Given the description of an element on the screen output the (x, y) to click on. 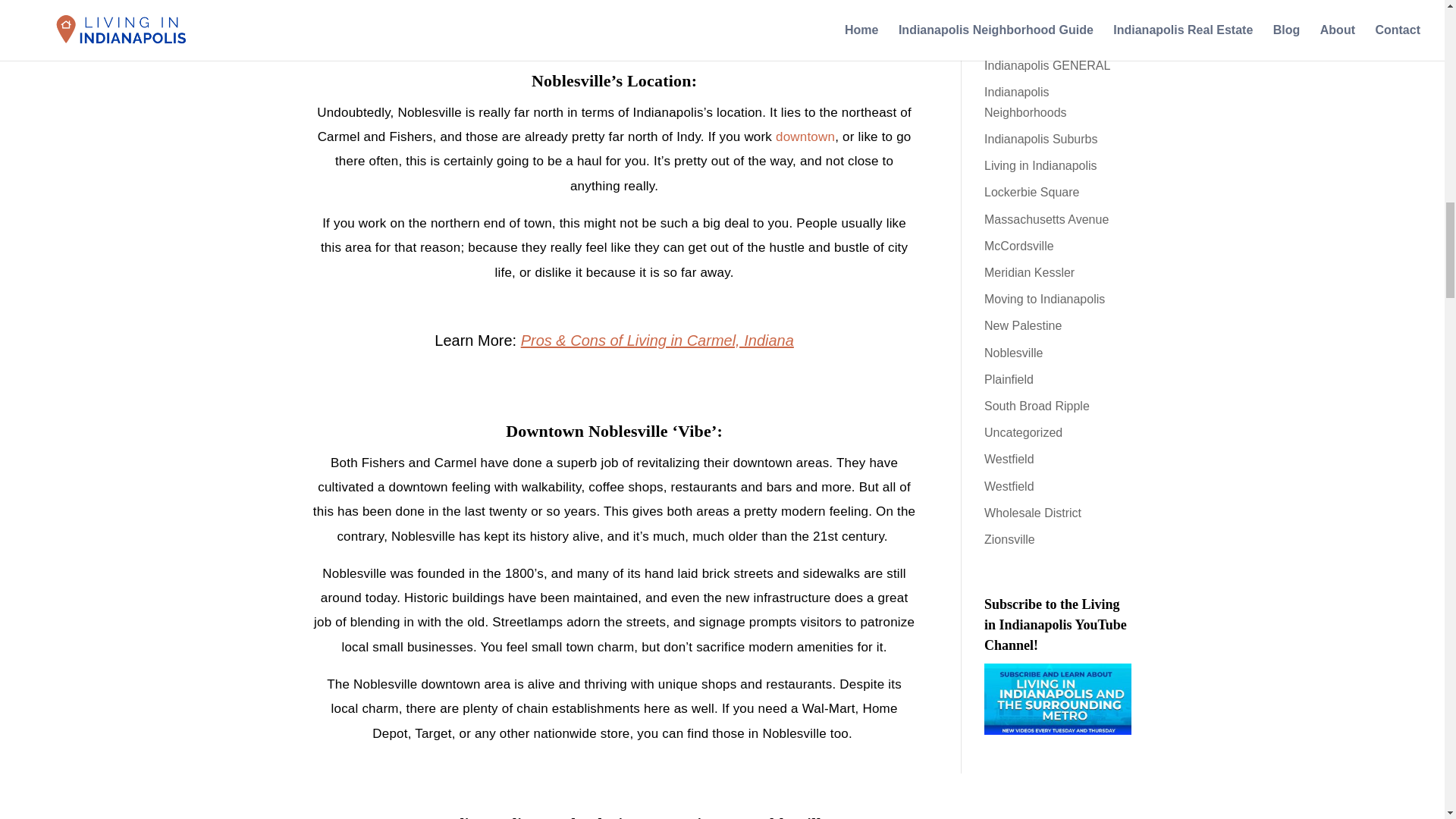
downtown (805, 136)
